Given the description of an element on the screen output the (x, y) to click on. 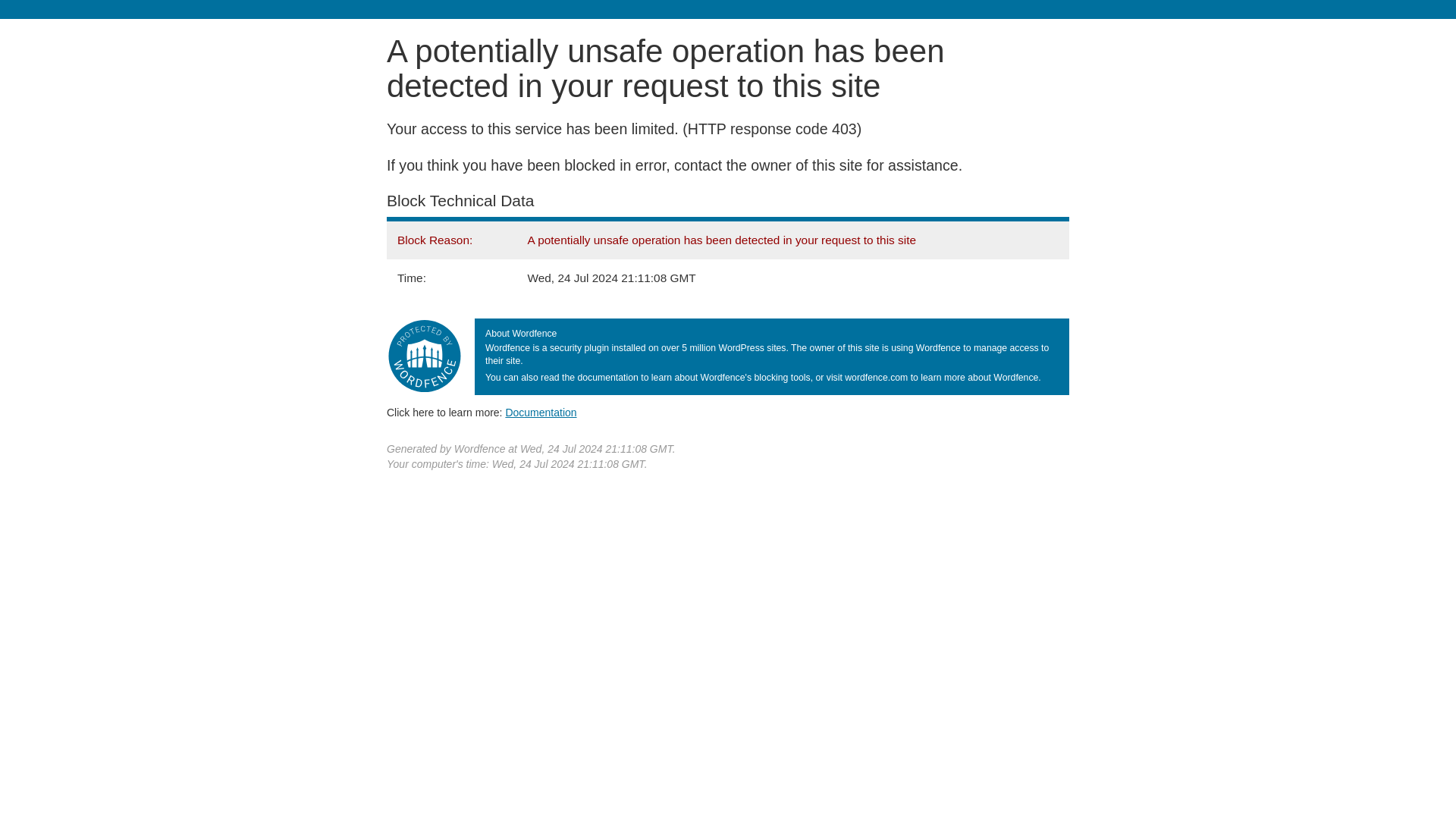
Documentation (540, 412)
